Given the description of an element on the screen output the (x, y) to click on. 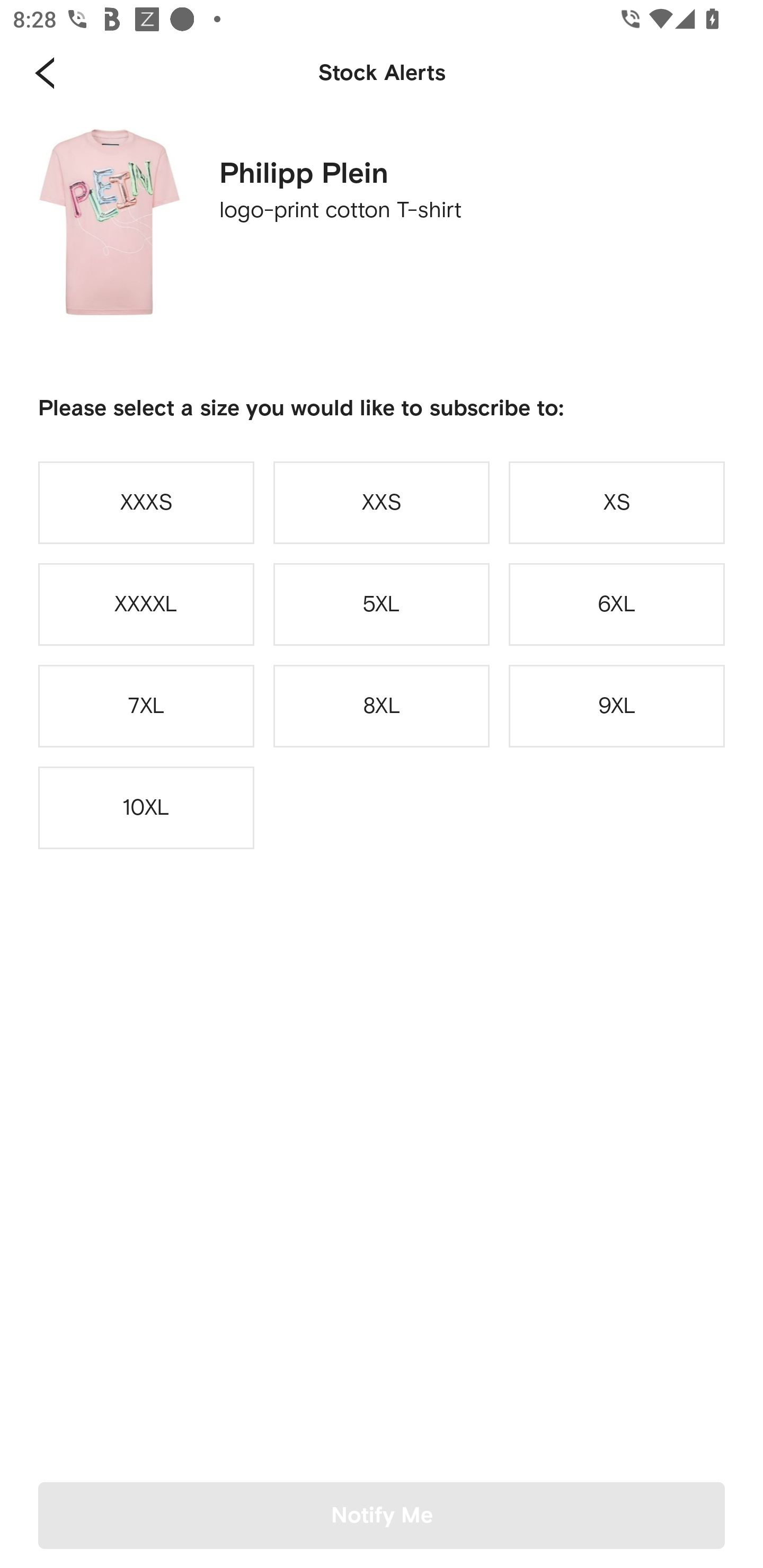
XXXS (146, 502)
XXS (381, 502)
XS (616, 502)
XXXXL (146, 604)
5XL (381, 604)
6XL (616, 604)
7XL (146, 705)
8XL (381, 705)
9XL (616, 705)
10XL (146, 807)
Notify Me (381, 1515)
